Given the description of an element on the screen output the (x, y) to click on. 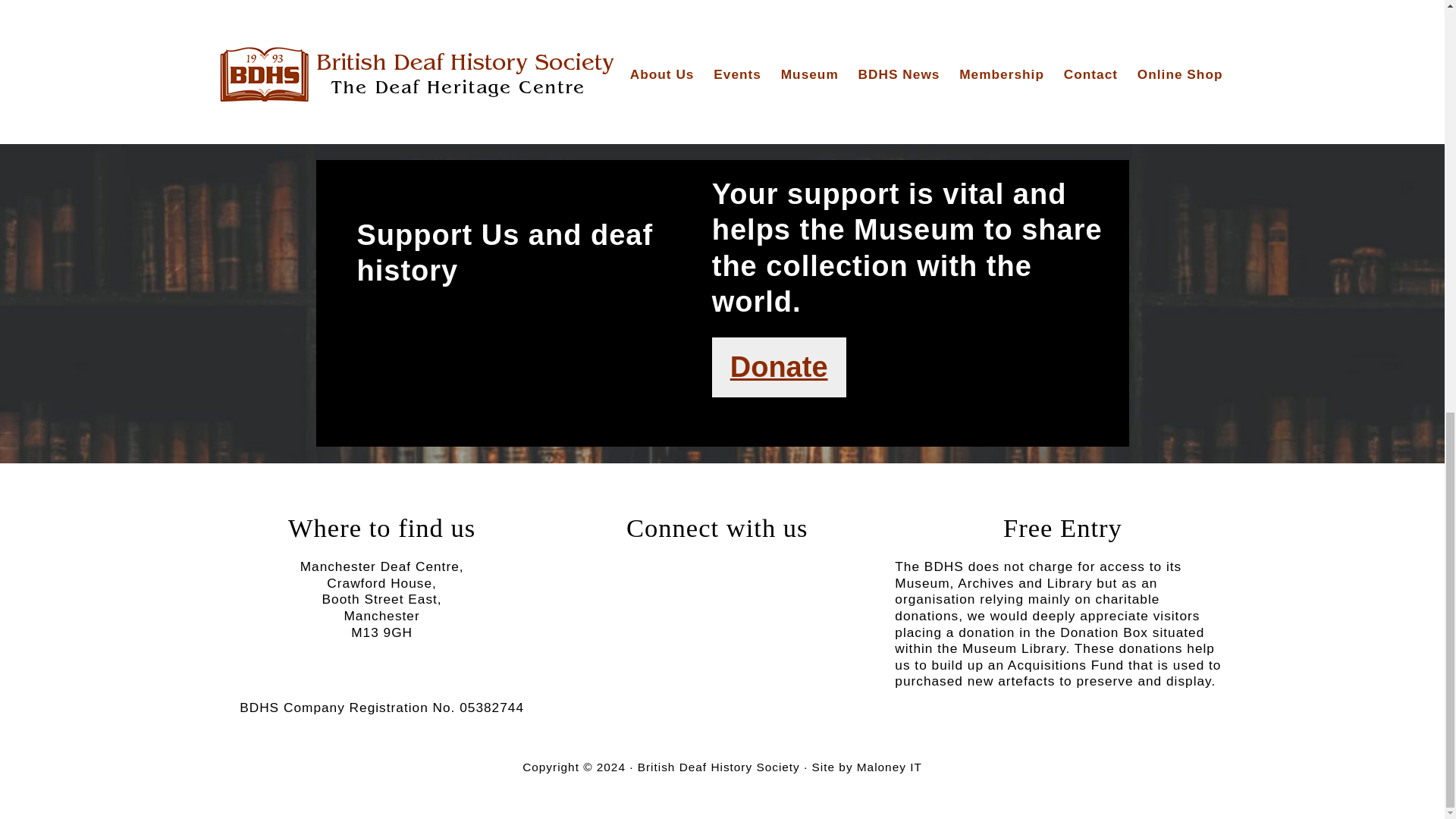
Donate (778, 367)
Donate (779, 367)
